Given the description of an element on the screen output the (x, y) to click on. 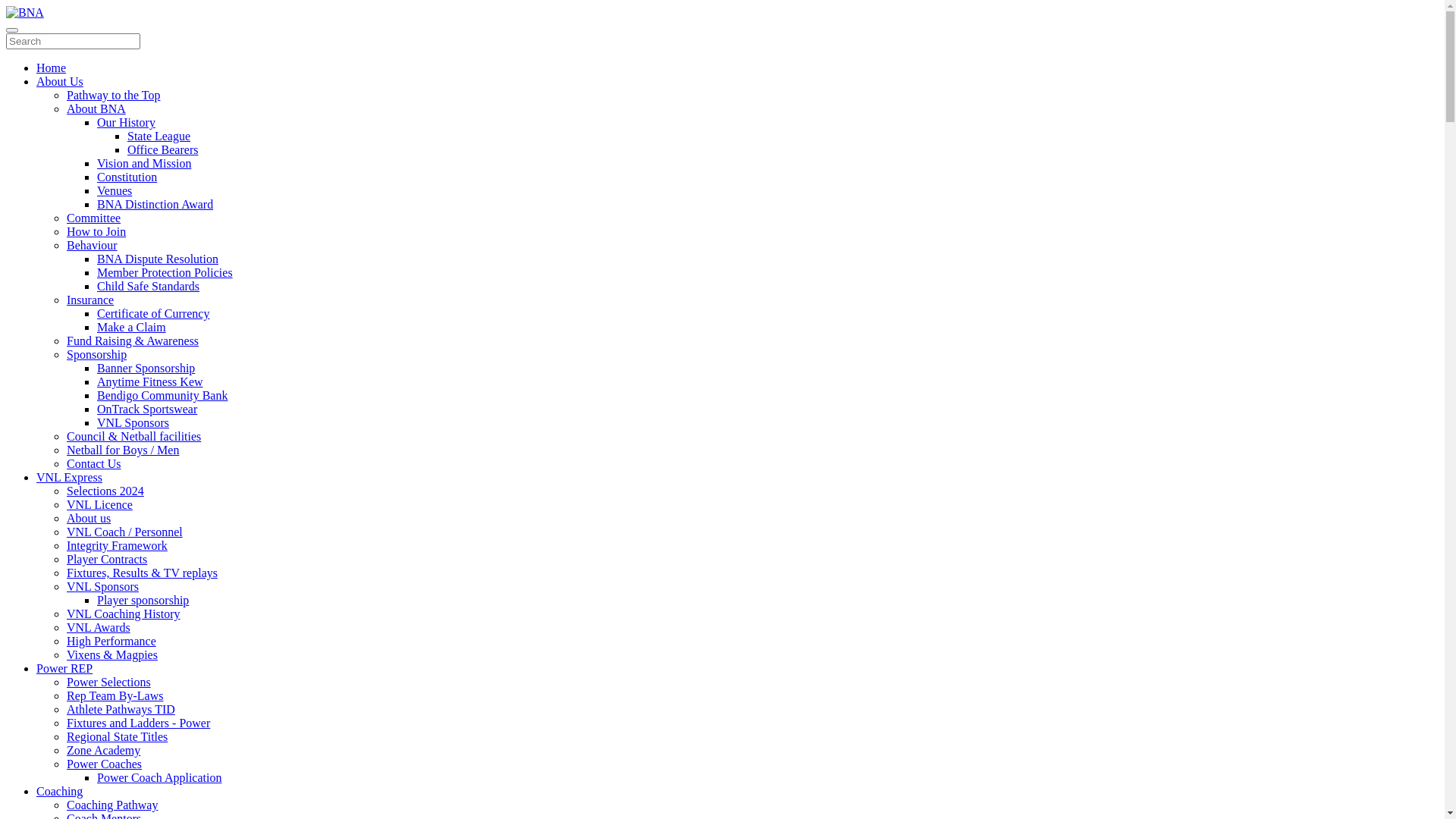
BNA Distinction Award Element type: text (155, 203)
Contact Us Element type: text (93, 463)
State League Element type: text (158, 135)
Fixtures, Results & TV replays Element type: text (141, 572)
Our History Element type: text (126, 122)
VNL Coaching History Element type: text (123, 613)
Child Safe Standards Element type: text (148, 285)
VNL Sponsors Element type: text (102, 586)
Make a Claim Element type: text (131, 326)
Behaviour Element type: text (91, 244)
Office Bearers Element type: text (162, 149)
Selections 2024 Element type: text (105, 490)
Certificate of Currency Element type: text (153, 313)
Home Element type: text (50, 67)
High Performance Element type: text (111, 640)
Zone Academy Element type: text (103, 749)
Banner Sponsorship Element type: text (145, 367)
About BNA Element type: text (95, 108)
Power Coaches Element type: text (103, 763)
VNL Sponsors Element type: text (133, 422)
Insurance Element type: text (89, 299)
Player Contracts Element type: text (106, 558)
Venues Element type: text (114, 190)
Bendigo Community Bank Element type: text (162, 395)
Vixens & Magpies Element type: text (111, 654)
Council & Netball facilities Element type: text (133, 435)
Athlete Pathways TID Element type: text (120, 708)
VNL Licence Element type: text (99, 504)
Power REP Element type: text (64, 668)
Power Coach Application Element type: text (159, 777)
Constitution Element type: text (126, 176)
About us Element type: text (88, 517)
BNA Dispute Resolution Element type: text (157, 258)
Rep Team By-Laws Element type: text (114, 695)
Member Protection Policies Element type: text (164, 272)
Player sponsorship Element type: text (142, 599)
OnTrack Sportswear Element type: text (147, 408)
Power Selections Element type: text (108, 681)
VNL Coach / Personnel Element type: text (124, 531)
Coaching Element type: text (59, 790)
How to Join Element type: text (95, 231)
Fund Raising & Awareness Element type: text (132, 340)
Fixtures and Ladders - Power Element type: text (138, 722)
Sponsorship Element type: text (96, 354)
Committee Element type: text (93, 217)
Anytime Fitness Kew Element type: text (150, 381)
Netball for Boys / Men Element type: text (122, 449)
VNL Awards Element type: text (98, 627)
Regional State Titles Element type: text (116, 736)
Coaching Pathway Element type: text (111, 804)
About Us Element type: text (59, 81)
Integrity Framework Element type: text (116, 545)
Vision and Mission Element type: text (144, 162)
VNL Express Element type: text (69, 476)
Pathway to the Top Element type: text (113, 94)
